Given the description of an element on the screen output the (x, y) to click on. 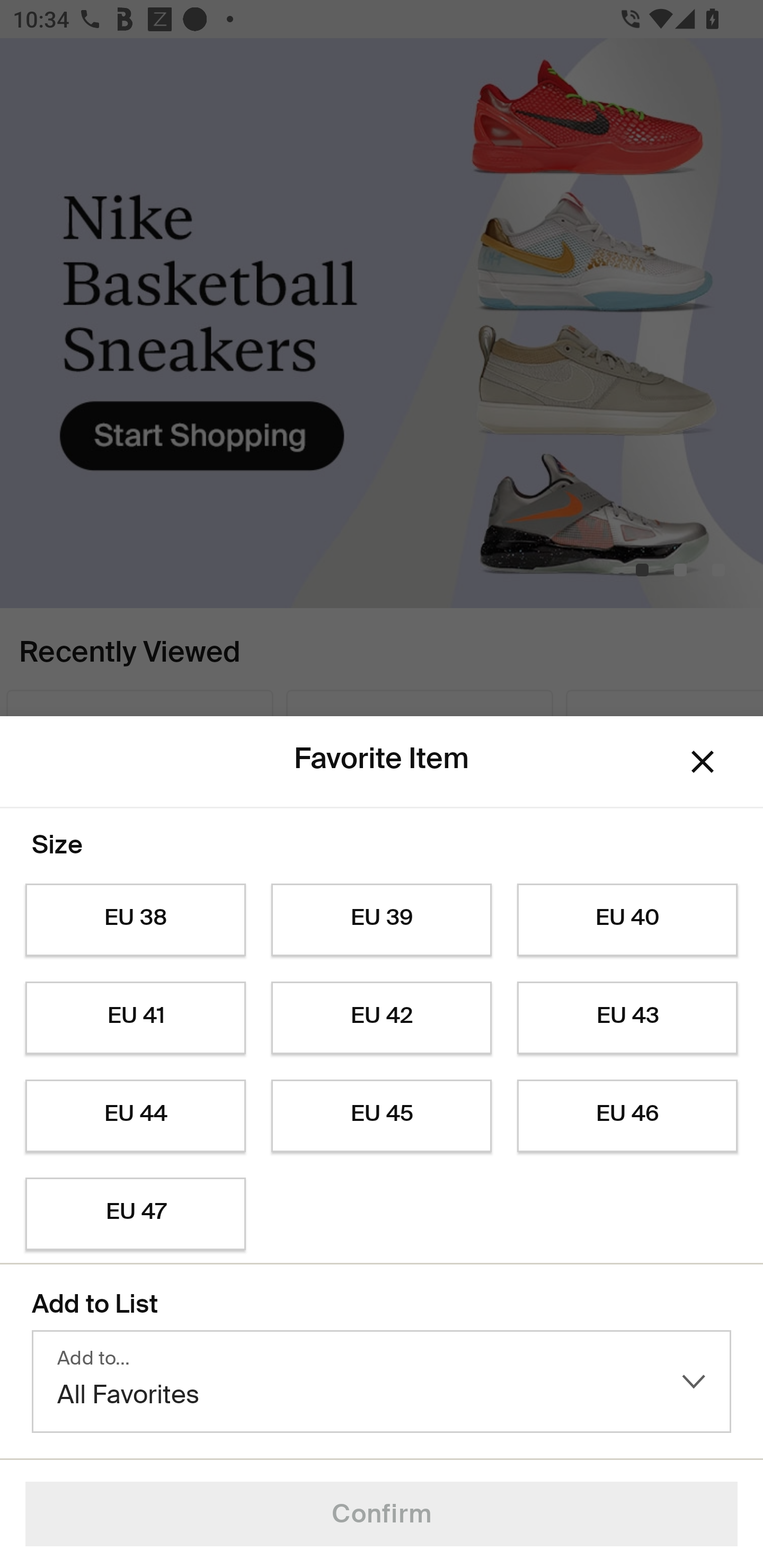
Dismiss (702, 760)
EU 38 (135, 919)
EU 39 (381, 919)
EU 40 (627, 919)
EU 41 (135, 1018)
EU 42 (381, 1018)
EU 43 (627, 1018)
EU 44 (135, 1116)
EU 45 (381, 1116)
EU 46 (627, 1116)
EU 47 (135, 1214)
Add to… All Favorites (381, 1381)
Confirm (381, 1513)
